Given the description of an element on the screen output the (x, y) to click on. 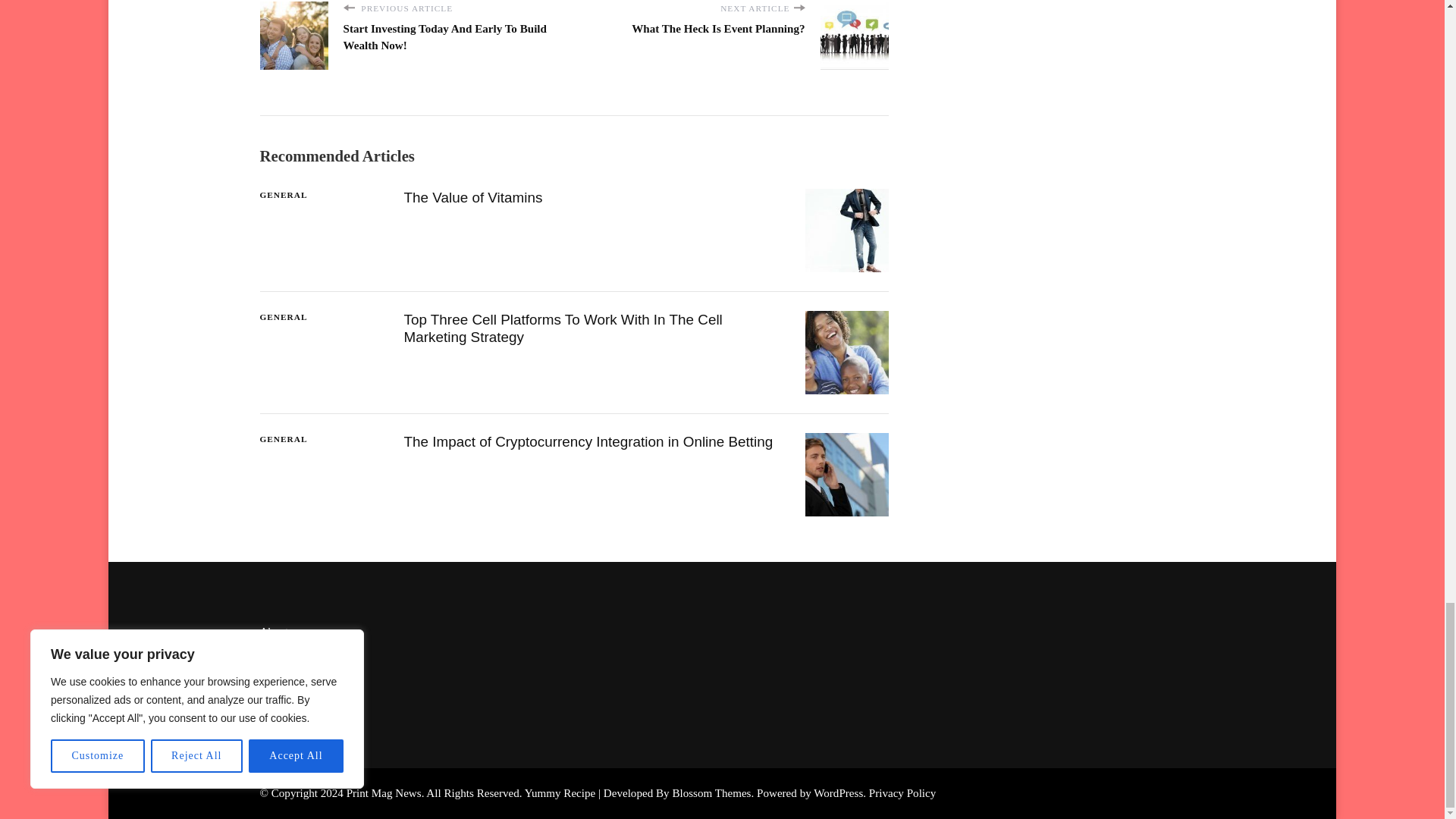
The Value of Vitamins (472, 197)
GENERAL (283, 195)
